Given the description of an element on the screen output the (x, y) to click on. 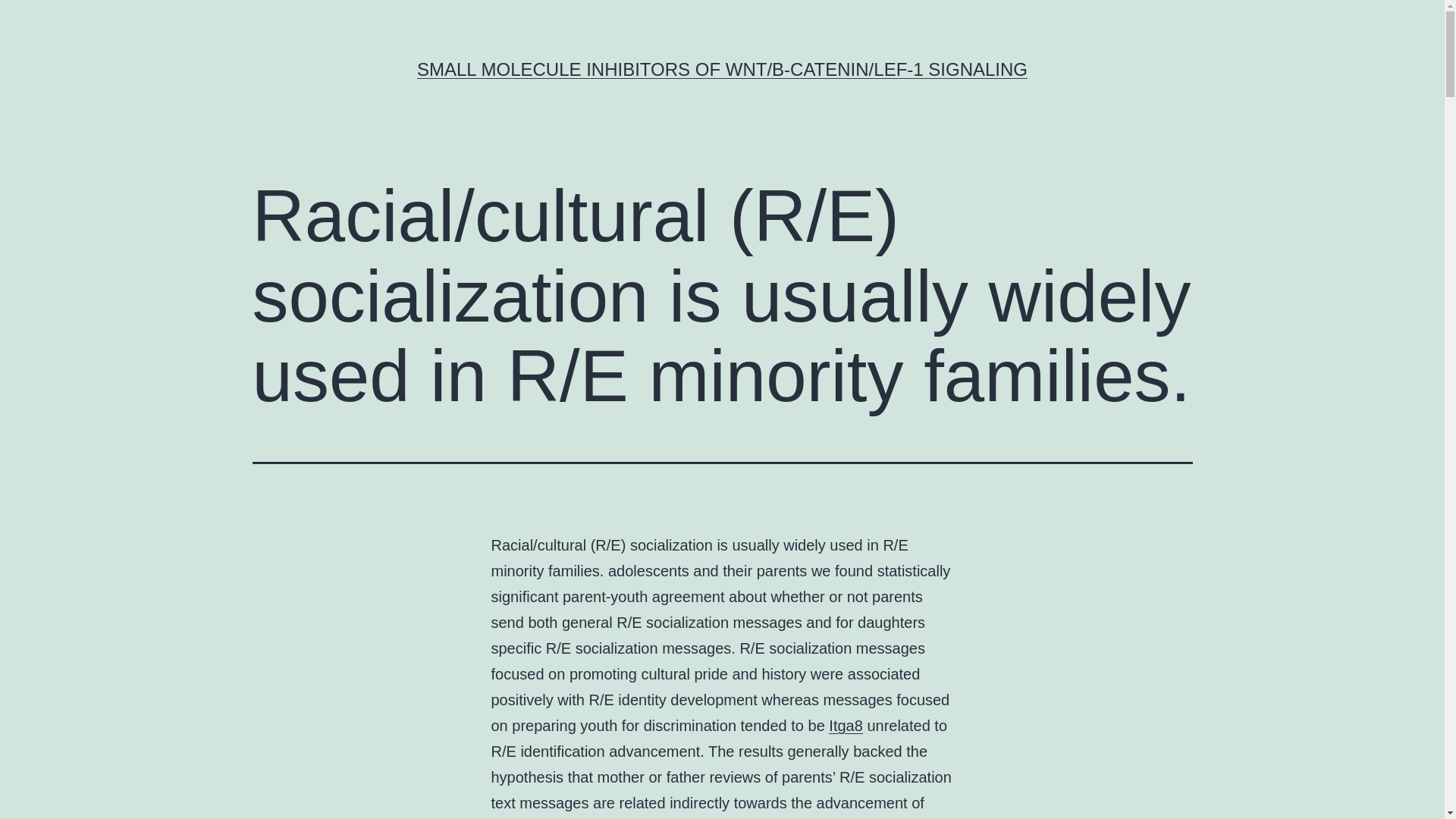
Itga8 (844, 725)
